Given the description of an element on the screen output the (x, y) to click on. 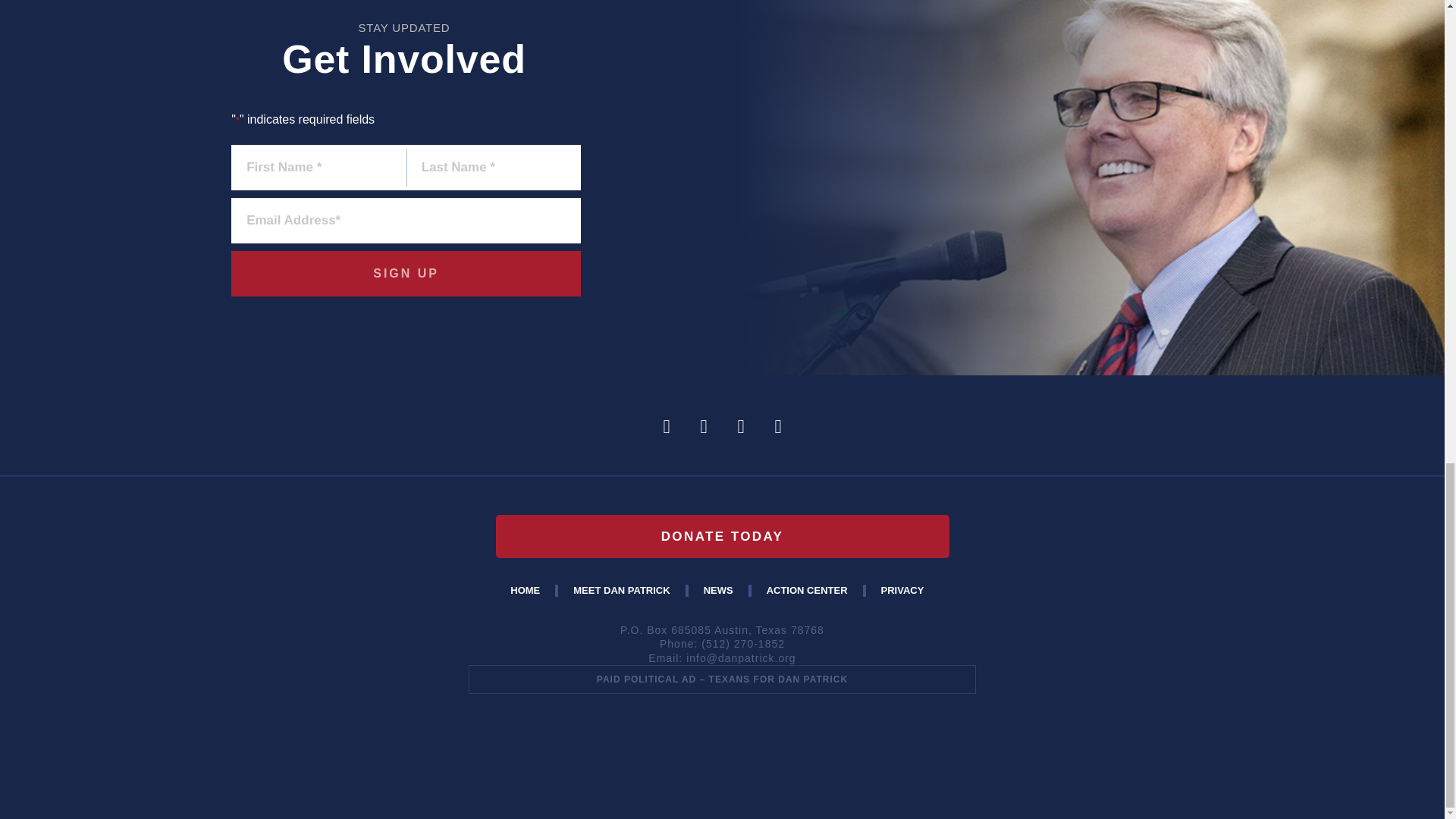
MEET DAN PATRICK (620, 590)
DONATE TODAY (722, 536)
HOME (524, 590)
SIGN UP (405, 273)
SIGN UP (405, 273)
